Given the description of an element on the screen output the (x, y) to click on. 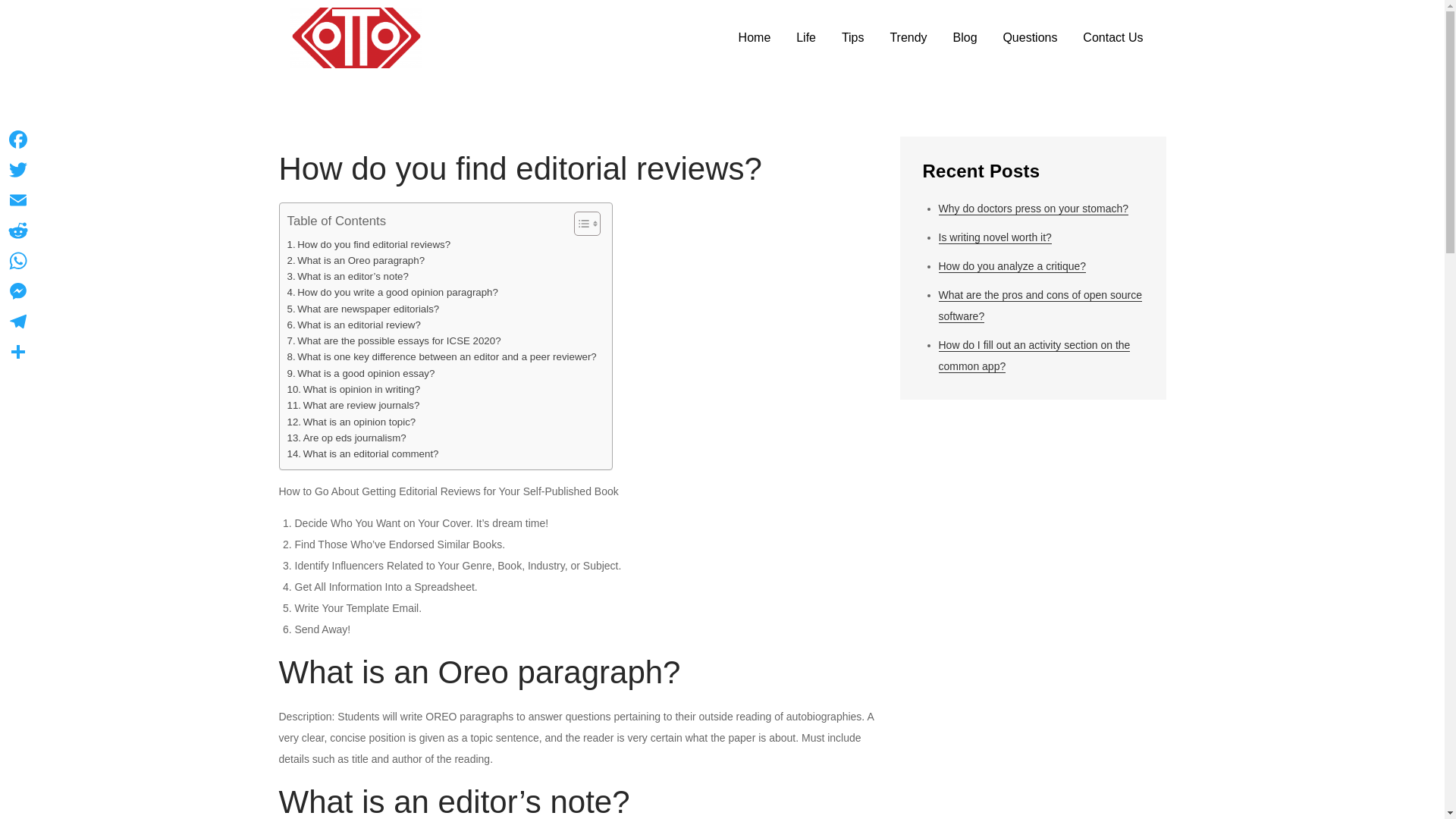
What are newspaper editorials? (362, 308)
What is opinion in writing? (353, 389)
What is a good opinion essay? (359, 373)
What are the possible essays for ICSE 2020? (393, 340)
How do you write a good opinion paragraph? (391, 292)
Questions (1029, 38)
What is an Oreo paragraph? (355, 260)
What is an opinion topic? (350, 421)
What is an editorial comment? (362, 453)
What is opinion in writing? (353, 389)
